Given the description of an element on the screen output the (x, y) to click on. 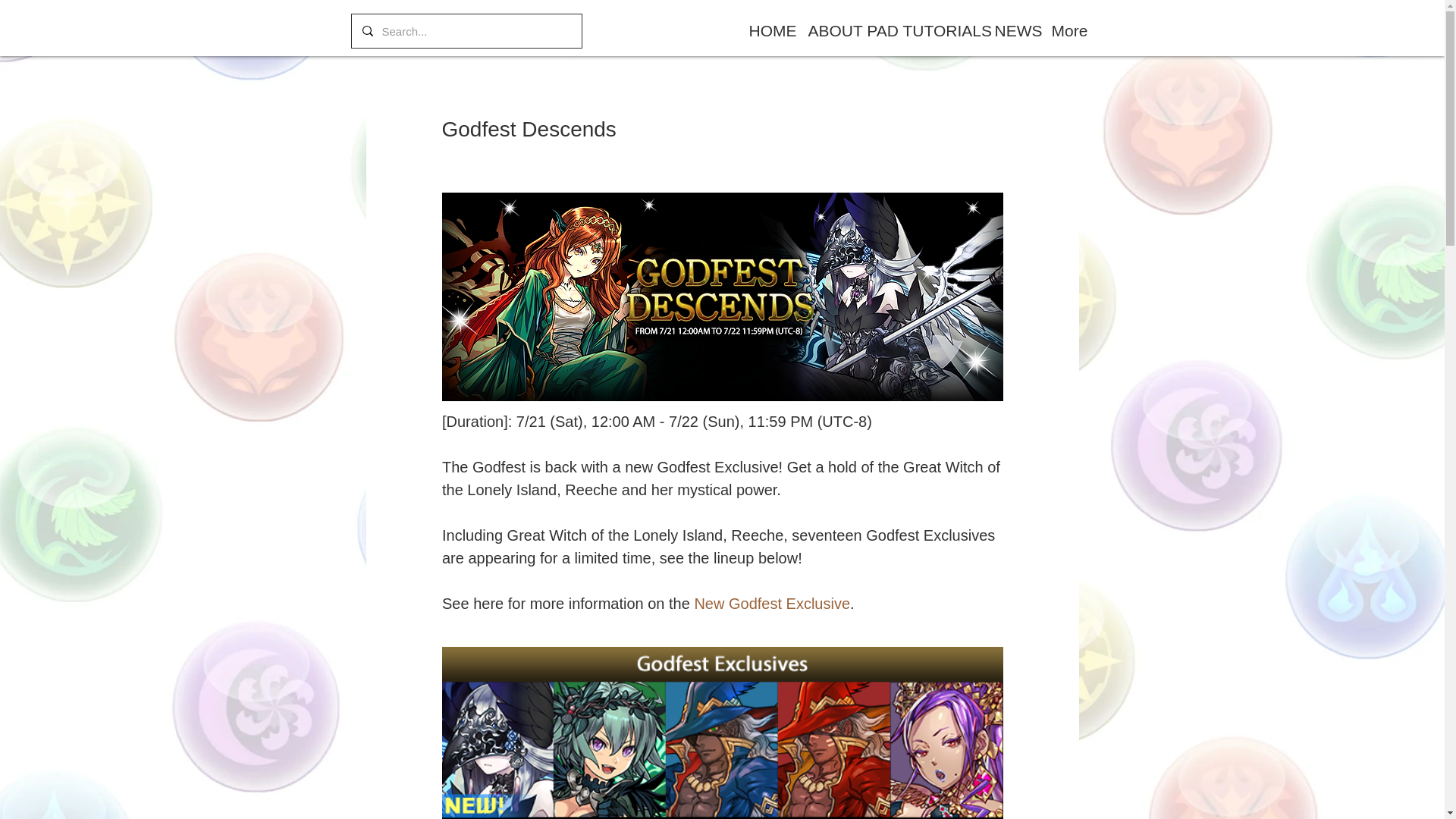
HOME (766, 30)
NEWS (1010, 30)
TUTORIALS (937, 30)
New Godfest Exclusive (772, 603)
ABOUT PAD (843, 30)
